Given the description of an element on the screen output the (x, y) to click on. 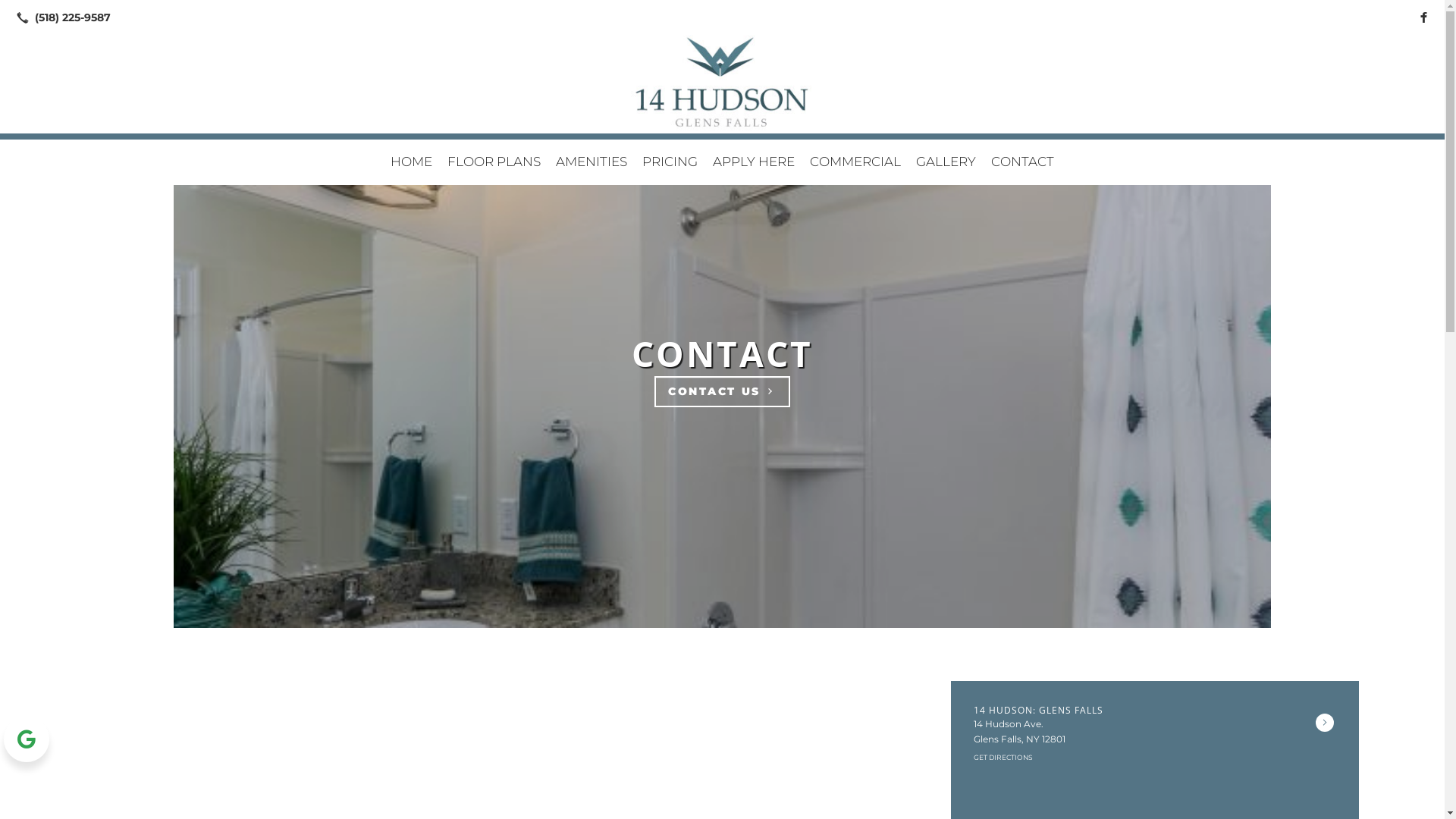
APPLY HERE Element type: text (753, 162)
COMMERCIAL Element type: text (855, 162)
GALLERY Element type: text (945, 162)
CONTACT Element type: text (1022, 162)
CONTACT Element type: text (721, 352)
PRICING Element type: text (669, 162)
See Details Element type: hover (1324, 722)
(518) 225-9587 Element type: hover (60, 17)
HOME Element type: text (410, 162)
Facebook Element type: hover (1423, 17)
AMENITIES Element type: text (591, 162)
FLOOR PLANS Element type: text (493, 162)
GET DIRECTIONS Element type: text (1002, 757)
CONTACT US Element type: text (721, 391)
